Given the description of an element on the screen output the (x, y) to click on. 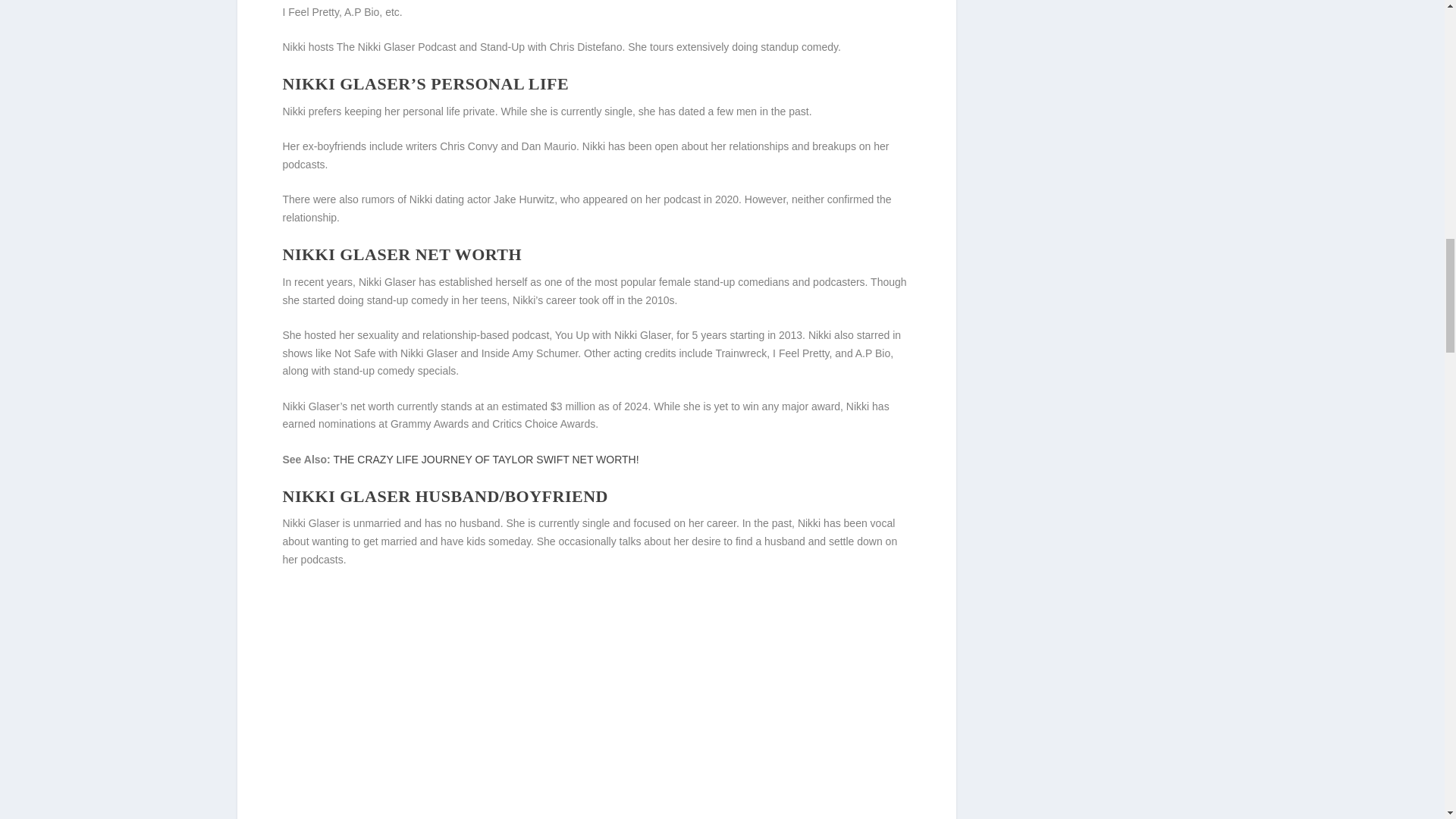
THE CRAZY LIFE JOURNEY OF TAYLOR SWIFT NET WORTH! (486, 459)
